Given the description of an element on the screen output the (x, y) to click on. 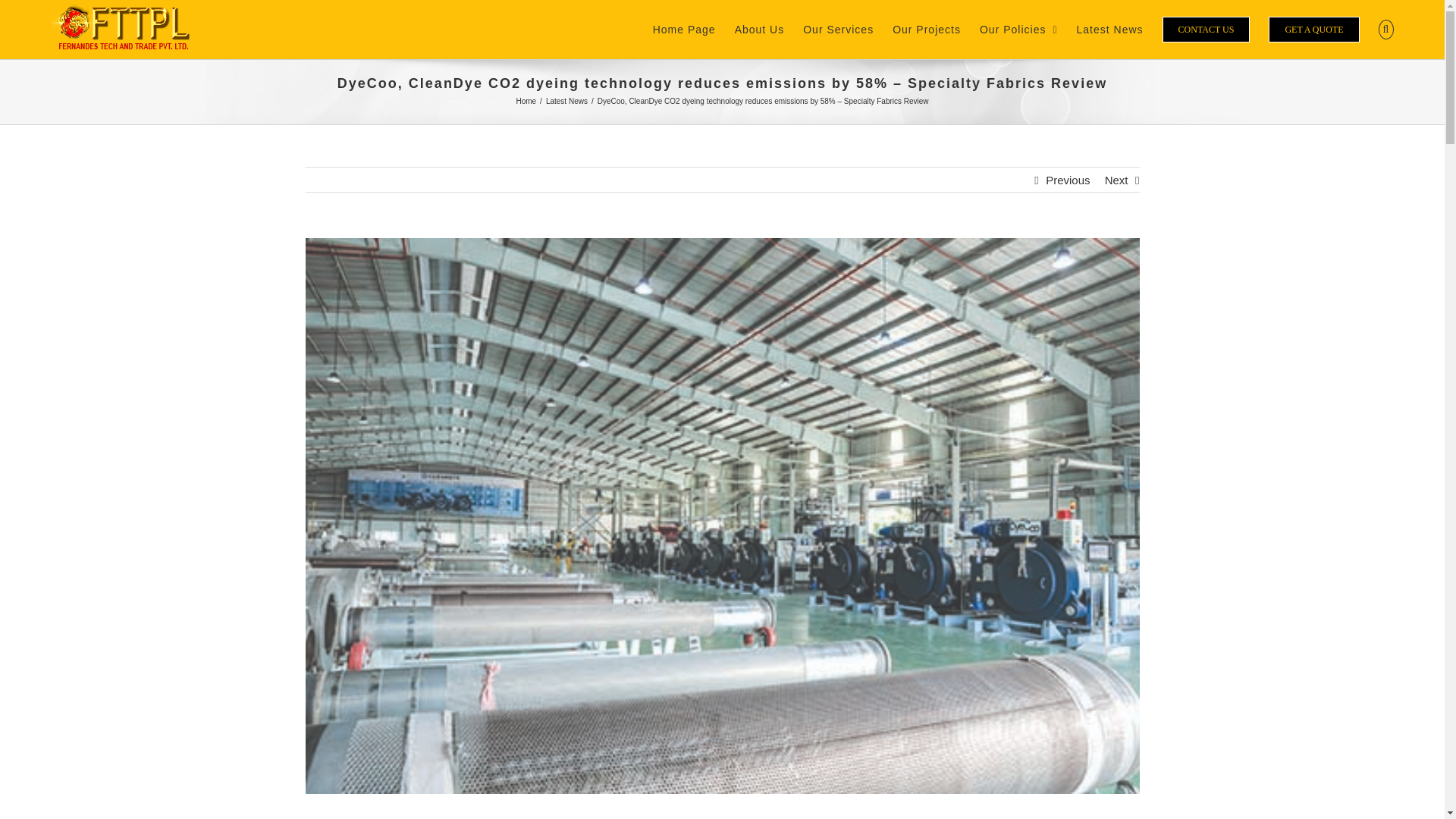
Our Policies (1018, 29)
Next (1116, 180)
Home (525, 101)
Our Projects (926, 29)
Previous (1067, 180)
Our Services (838, 29)
Latest News (1109, 29)
About Us (759, 29)
Home Page (684, 29)
CONTACT US (1205, 29)
Latest News (567, 101)
GET A QUOTE (1313, 29)
Search (1386, 29)
